Given the description of an element on the screen output the (x, y) to click on. 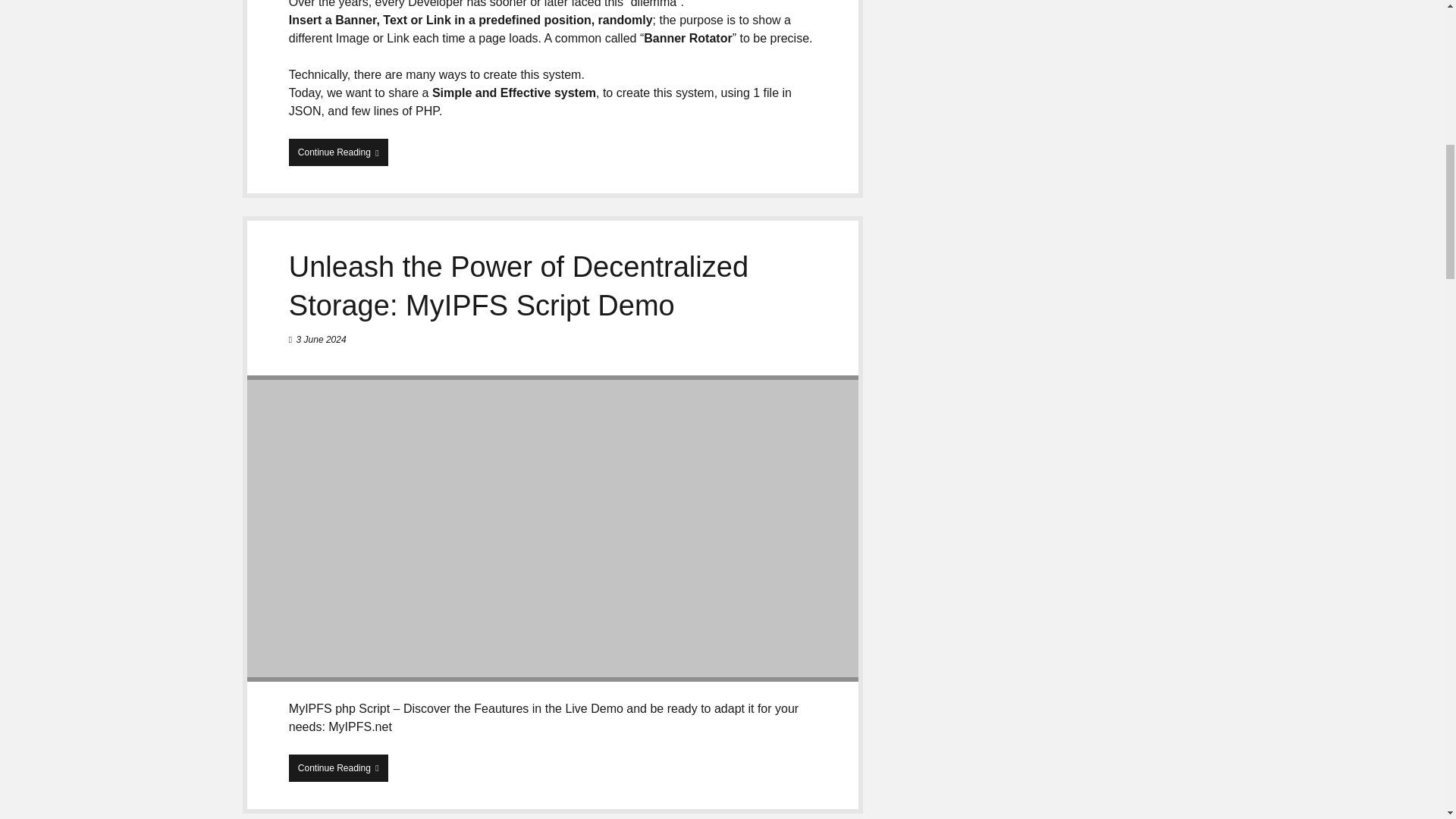
3 June 2024 (321, 339)
